Given the description of an element on the screen output the (x, y) to click on. 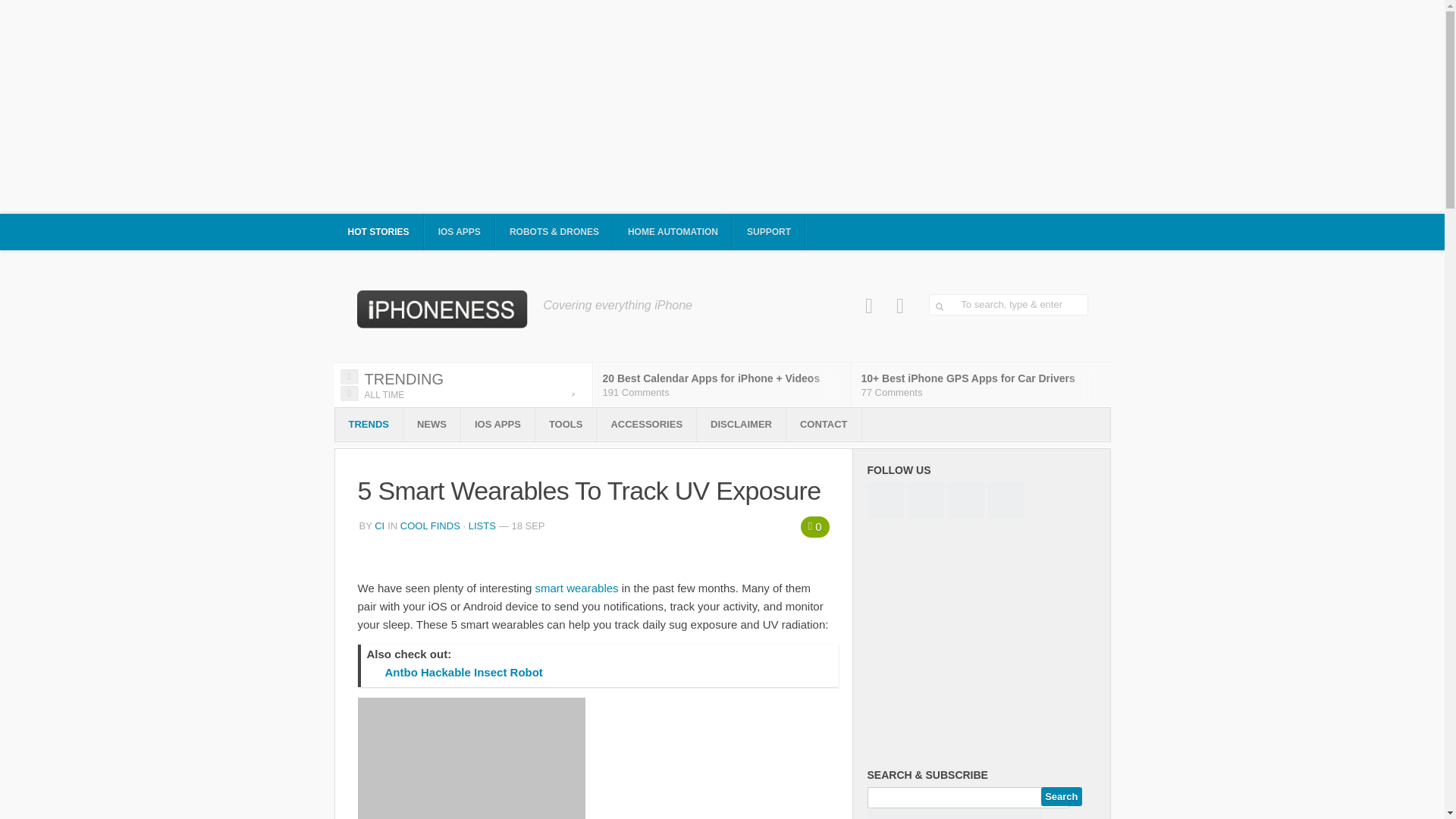
NEWS (431, 424)
Pinterest (900, 305)
HOT STORIES (377, 231)
IOS APPS (460, 231)
HOME AUTOMATION (673, 231)
TRENDS (368, 424)
Facebook (869, 305)
Search (1061, 796)
SUPPORT (769, 231)
